Given the description of an element on the screen output the (x, y) to click on. 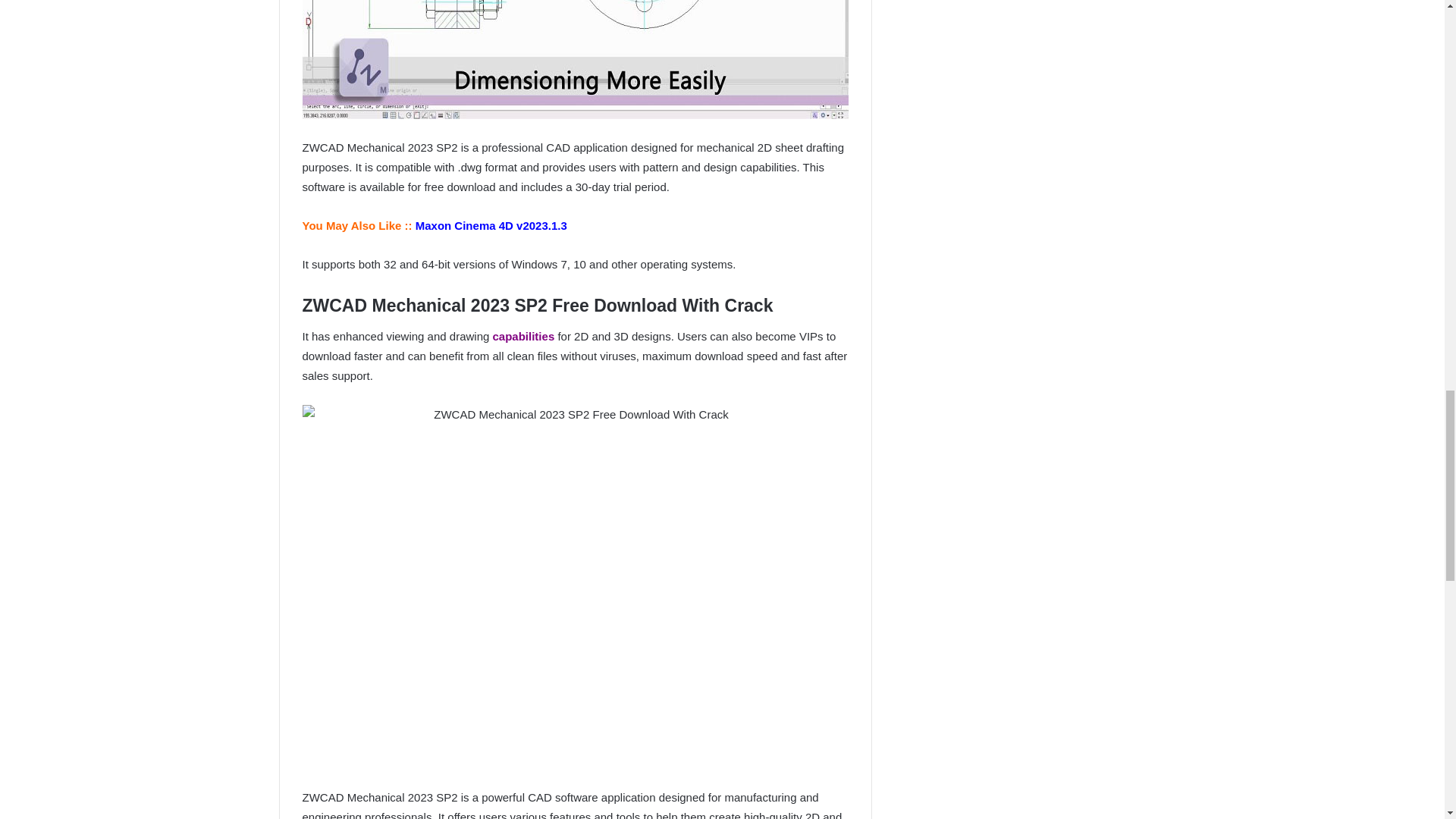
capabilities (523, 336)
ZWCAD Mechanichal 2023 SP2 Free Download with Patch (574, 59)
Maxon Cinema 4D v2023.1.3 (489, 225)
